Given the description of an element on the screen output the (x, y) to click on. 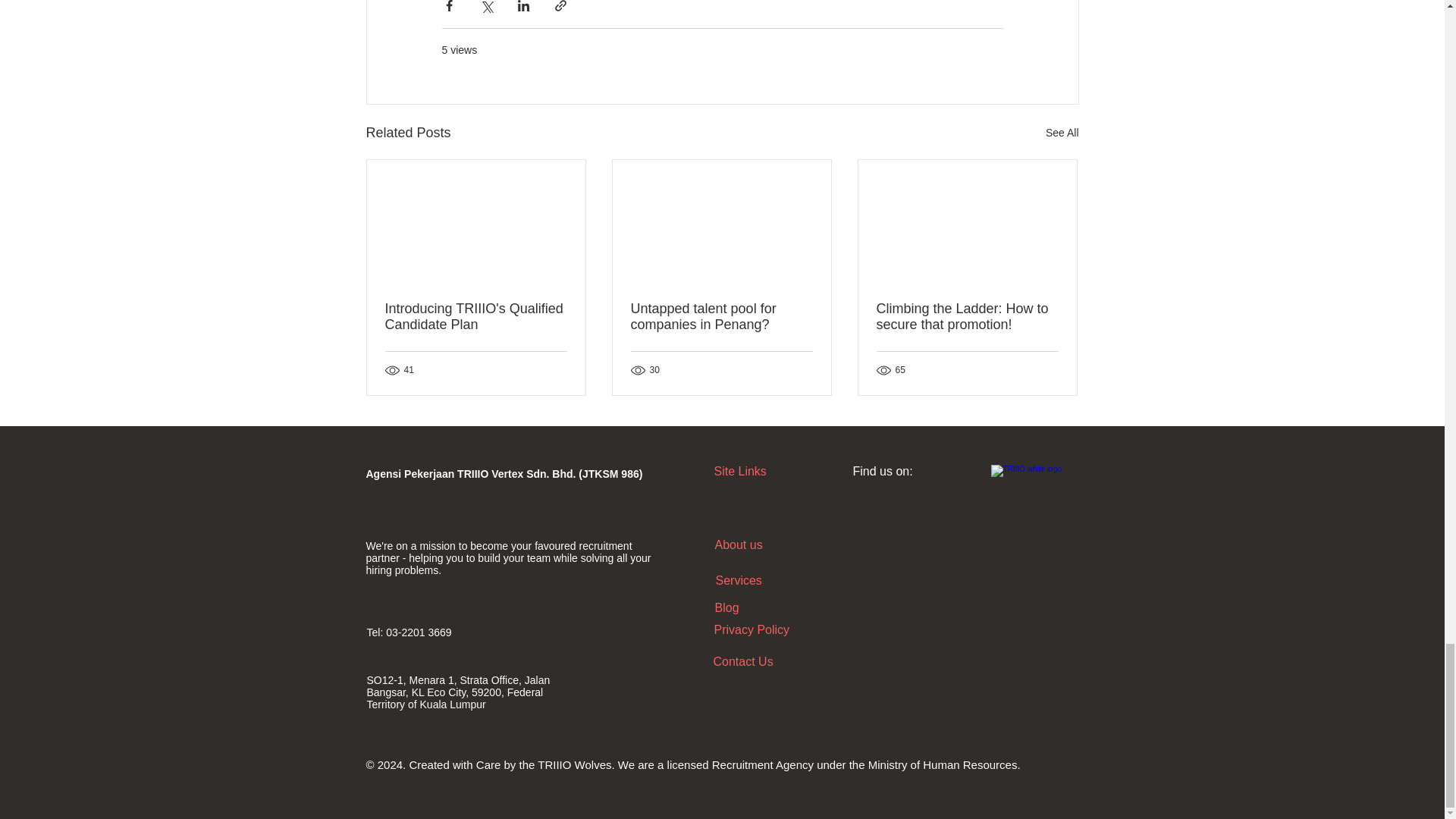
Privacy Policy (752, 629)
Introducing TRIIIO's Qualified Candidate Plan (476, 316)
Untapped talent pool for companies in Penang? (721, 316)
Services (738, 580)
About us (737, 544)
Contact Us (743, 661)
03-2201 3669 (418, 632)
Climbing the Ladder: How to secure that promotion! (967, 316)
See All (1061, 133)
Blog (726, 607)
